Given the description of an element on the screen output the (x, y) to click on. 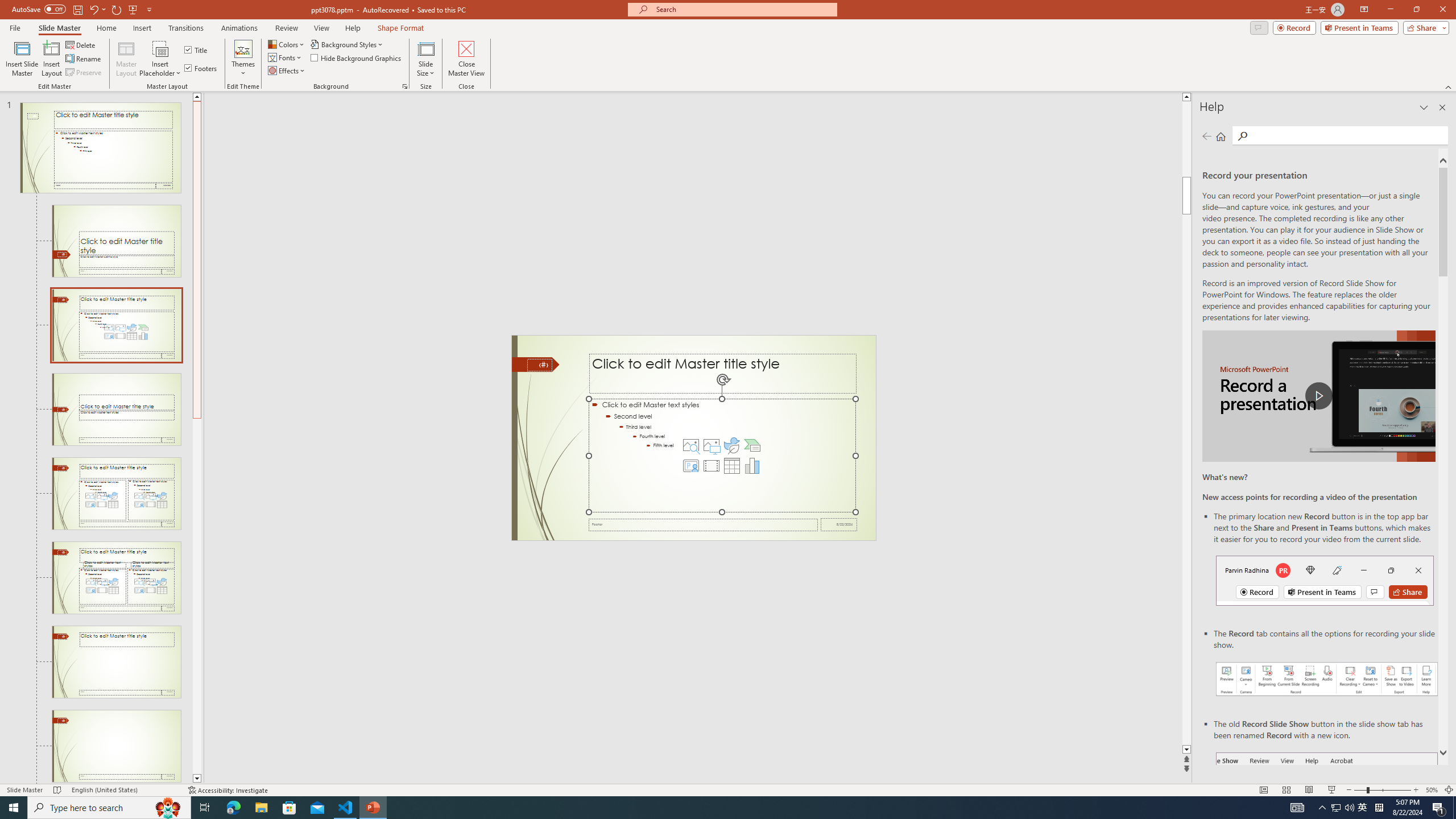
Background Styles (347, 44)
Content (160, 48)
Effects (287, 69)
Insert a SmartArt Graphic (752, 445)
Master Layout... (126, 58)
Slide Comparison Layout: used by no slides (116, 577)
